Given the description of an element on the screen output the (x, y) to click on. 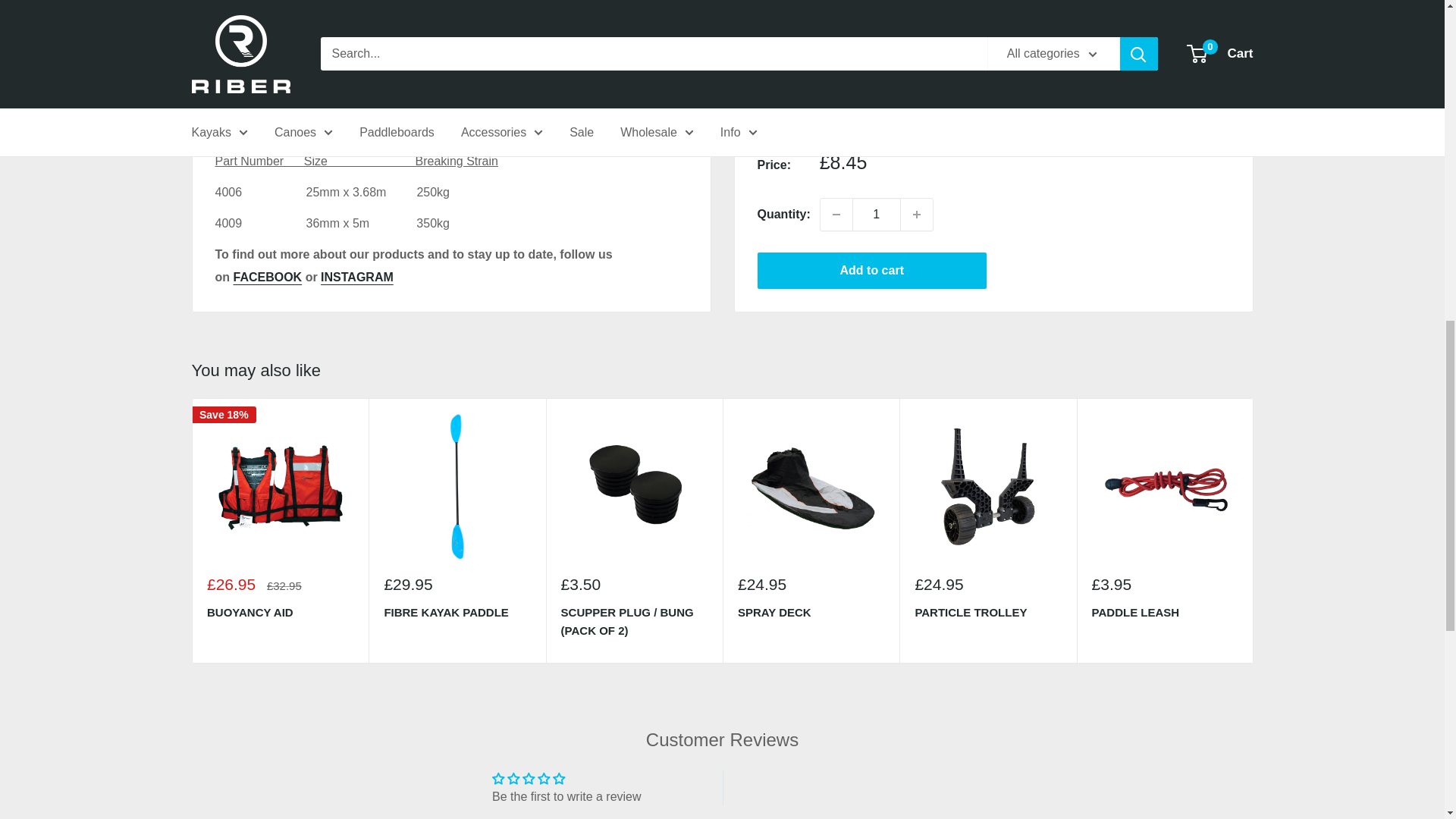
INSTAGRAM (356, 277)
FACEBOOK (267, 277)
